Given the description of an element on the screen output the (x, y) to click on. 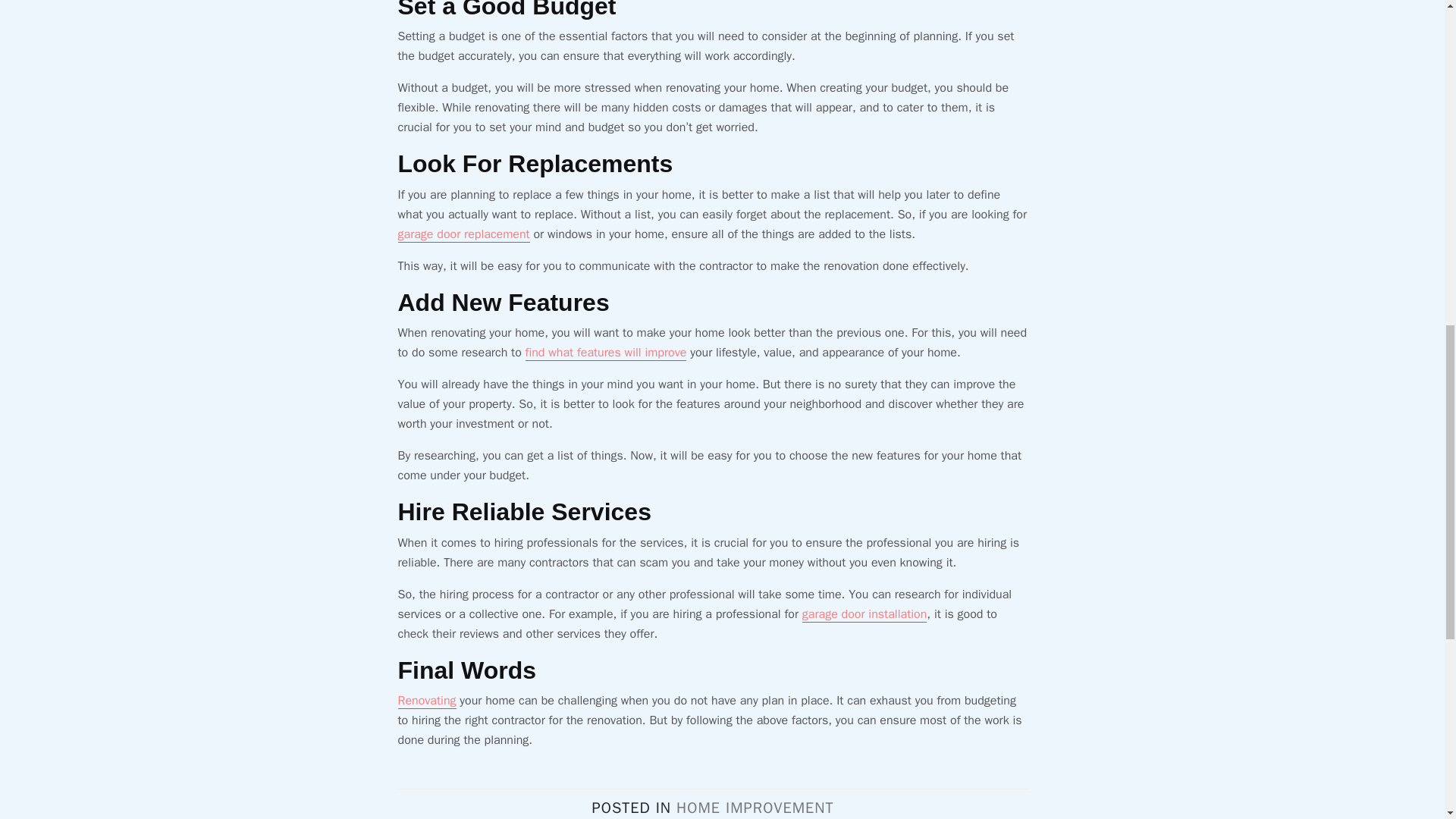
Renovating (426, 700)
find what features will improve (606, 352)
garage door replacement (463, 234)
garage door installation (864, 614)
